Given the description of an element on the screen output the (x, y) to click on. 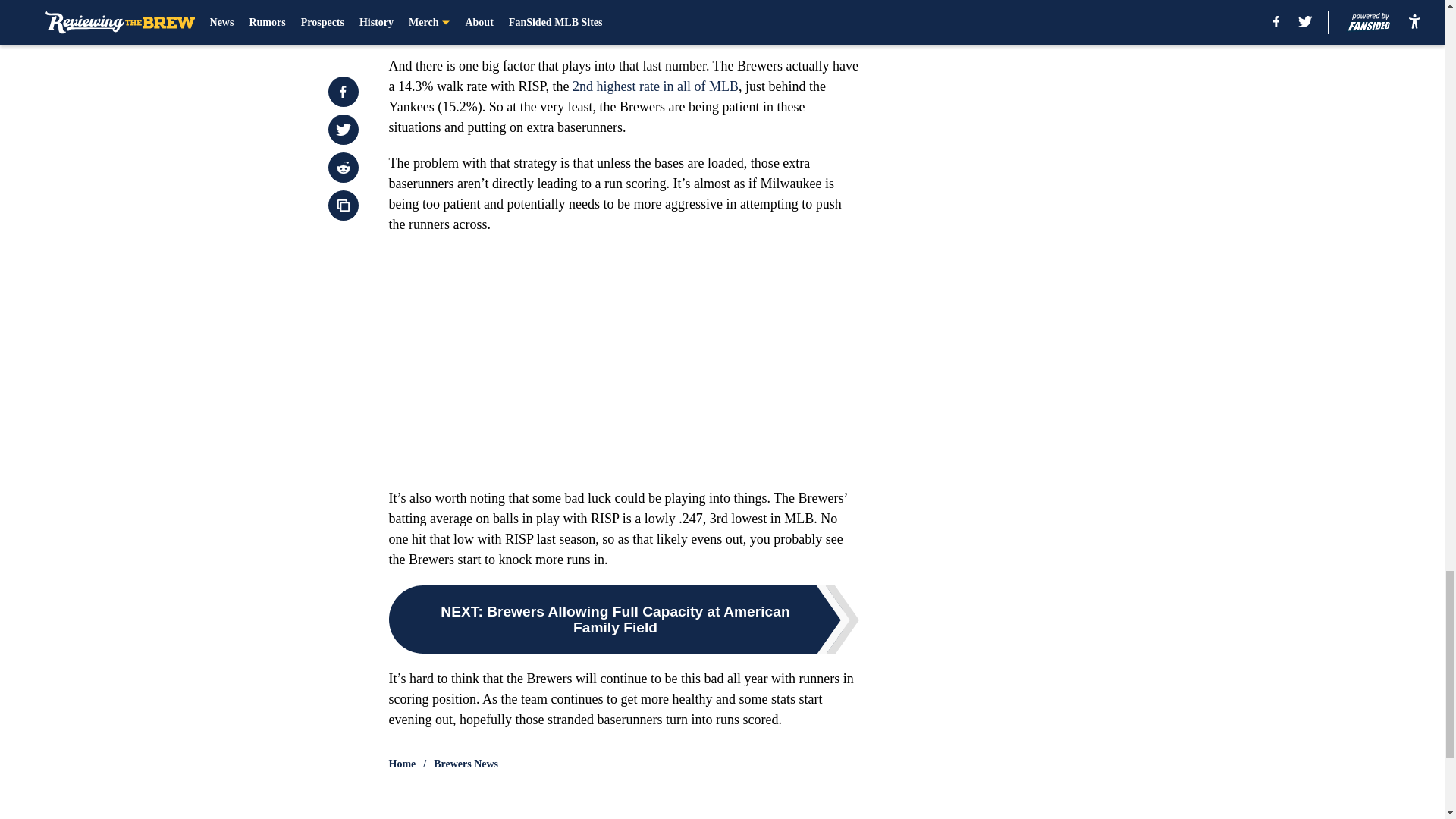
2nd highest rate in all of MLB (655, 86)
Home (401, 764)
Brewers News (465, 764)
